Given the description of an element on the screen output the (x, y) to click on. 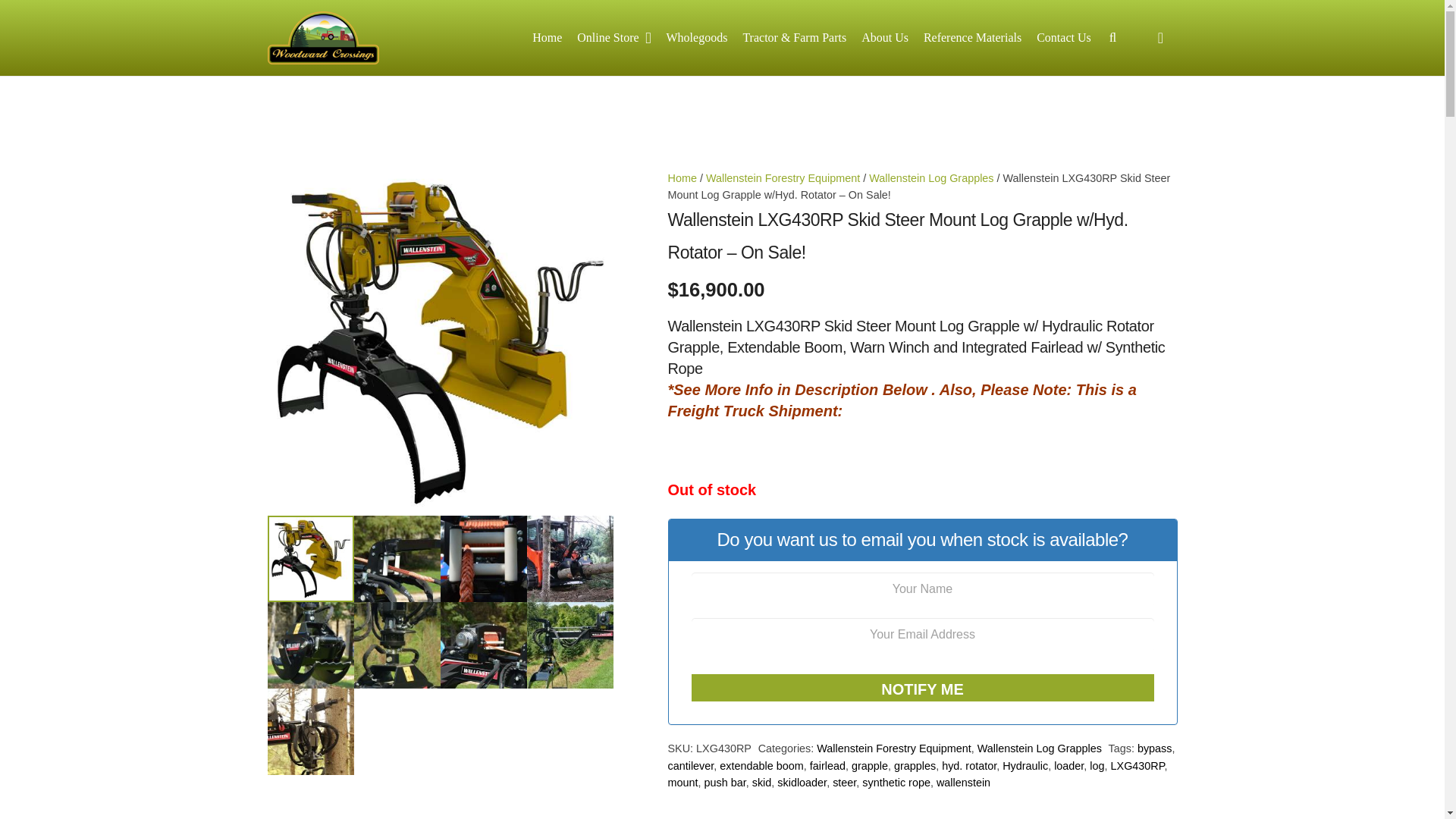
Wholegoods (697, 37)
Home (546, 37)
Notify Me (922, 687)
LXG430RP Skid Steer Mount Log Grapple (439, 342)
Reference Materials (972, 37)
Contact Us (1064, 37)
About Us (884, 37)
Online Store (613, 37)
